Given the description of an element on the screen output the (x, y) to click on. 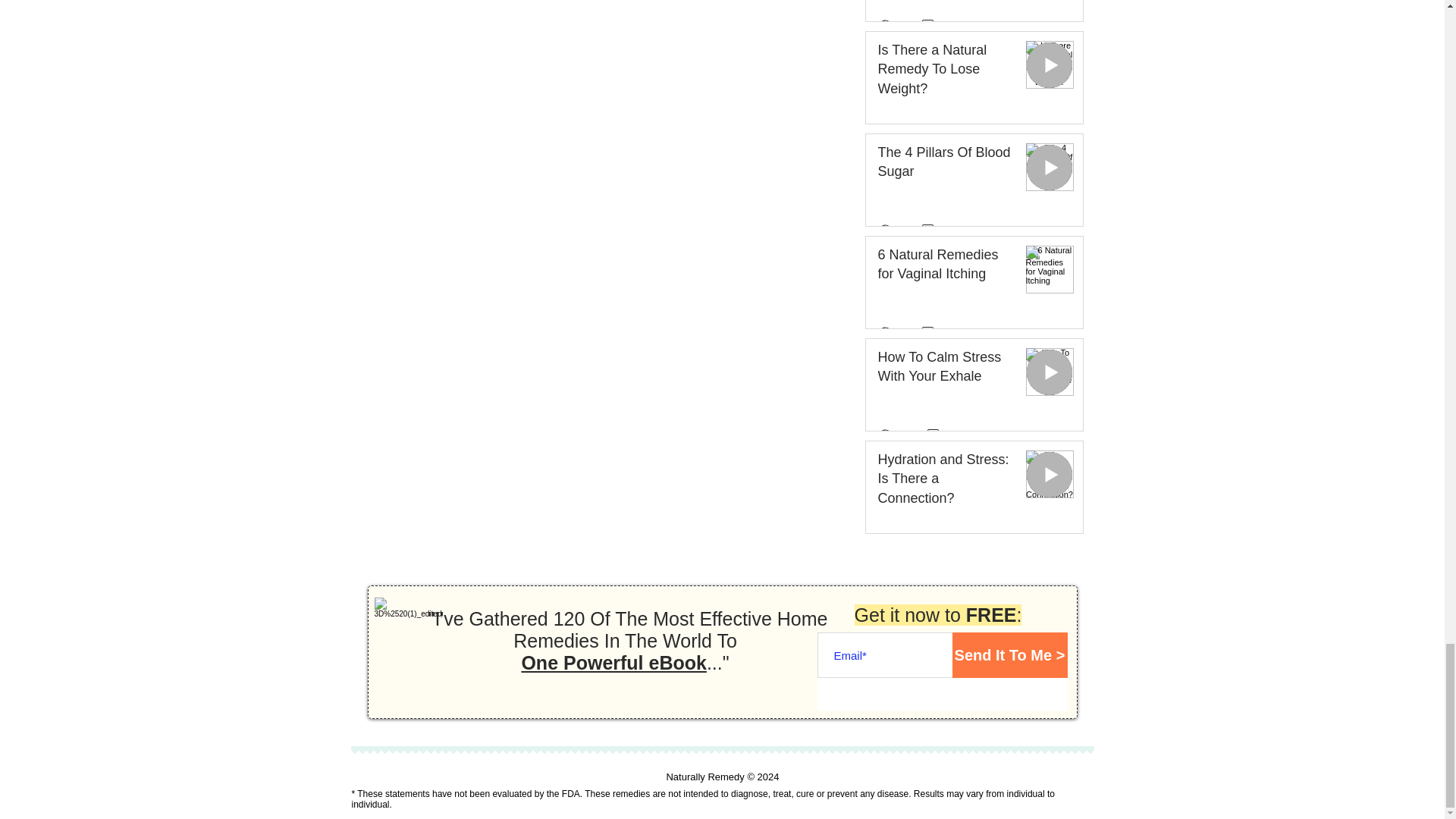
The 4 Pillars Of Blood Sugar (945, 165)
6 Natural Remedies for Vaginal Itching (945, 267)
0 (939, 433)
0 (933, 331)
Hydration and Stress: Is There a Connection? (945, 482)
How To Calm Stress With Your Exhale (945, 370)
0 (933, 24)
0 (933, 228)
Is There a Natural Remedy To Lose Weight? (945, 72)
